Given the description of an element on the screen output the (x, y) to click on. 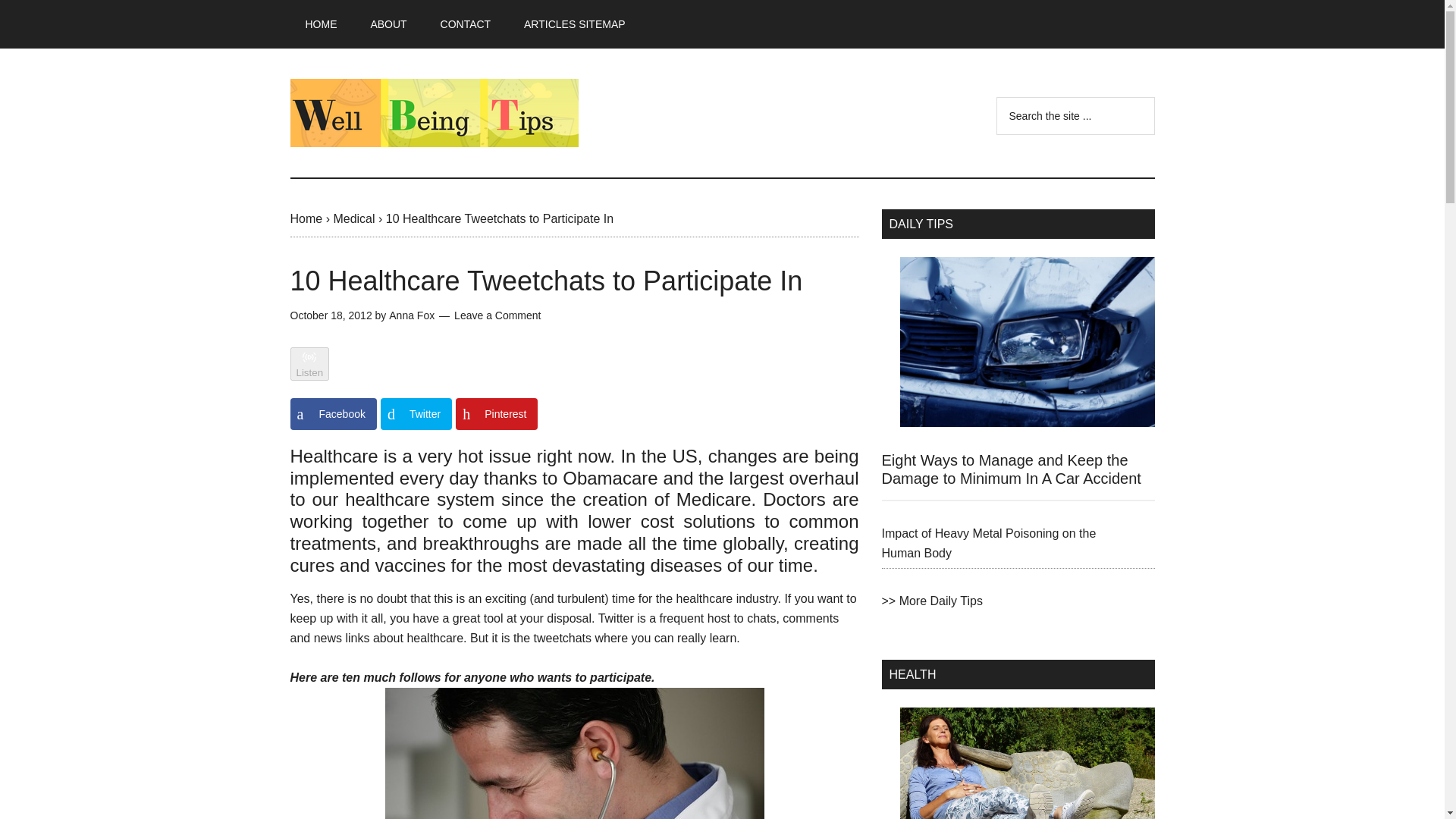
Share on Pinterest (496, 413)
Time for a Check-Up by Alex E. Proimos, on Flickr (574, 753)
HOME (320, 24)
Pinterest (496, 413)
Medical (353, 218)
Anna Fox (410, 315)
Home (305, 218)
Leave a Comment (497, 315)
ABOUT (388, 24)
Impact of Heavy Metal Poisoning on the Human Body (988, 543)
ARTICLES SITEMAP (574, 24)
Facebook (332, 413)
